Given the description of an element on the screen output the (x, y) to click on. 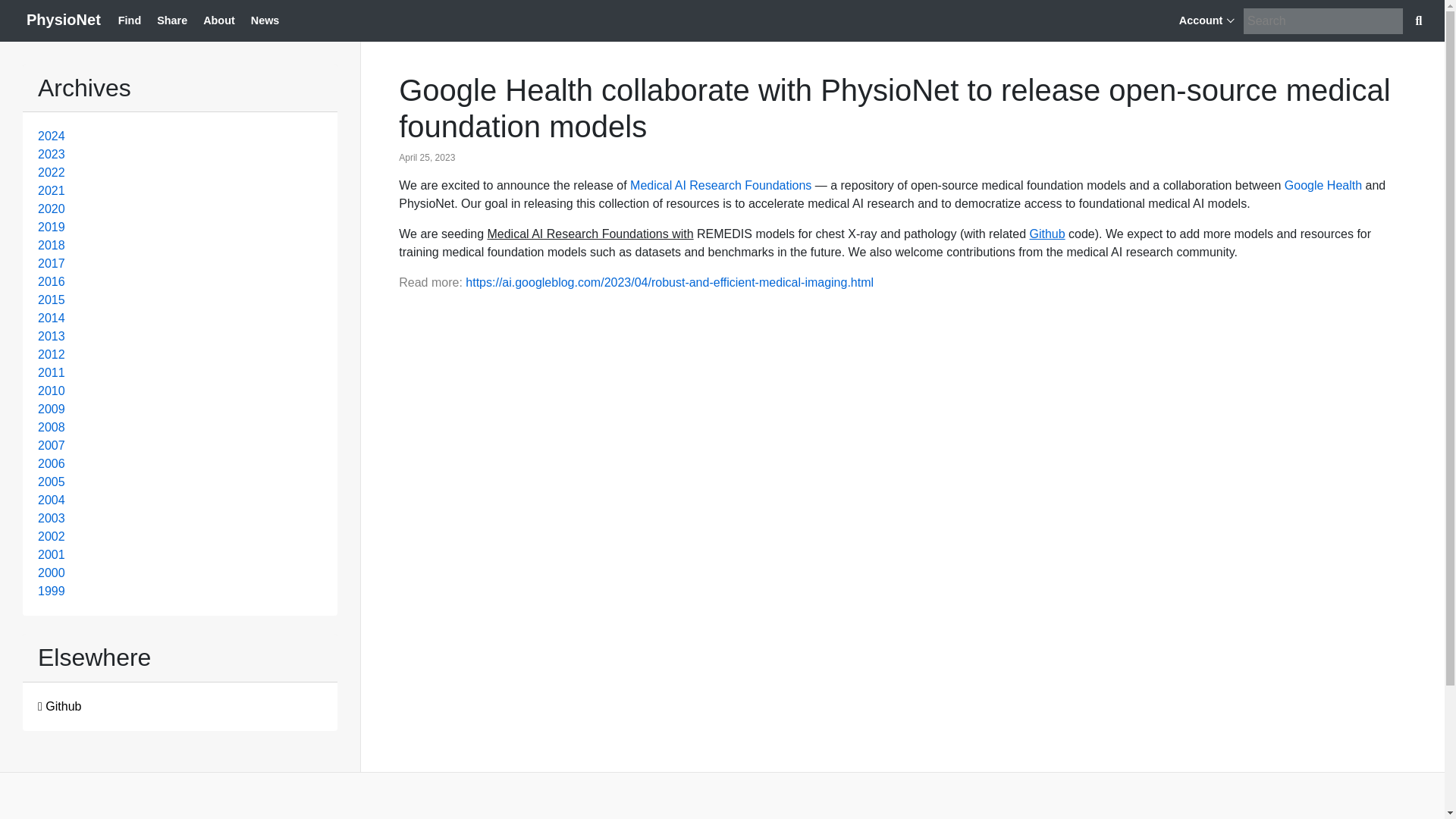
2017 (51, 263)
2006 (51, 463)
2001 (51, 554)
Find (129, 21)
2010 (51, 390)
2002 (51, 535)
2000 (51, 572)
2023 (51, 154)
About (218, 21)
Medical AI Research Foundations (720, 185)
